Given the description of an element on the screen output the (x, y) to click on. 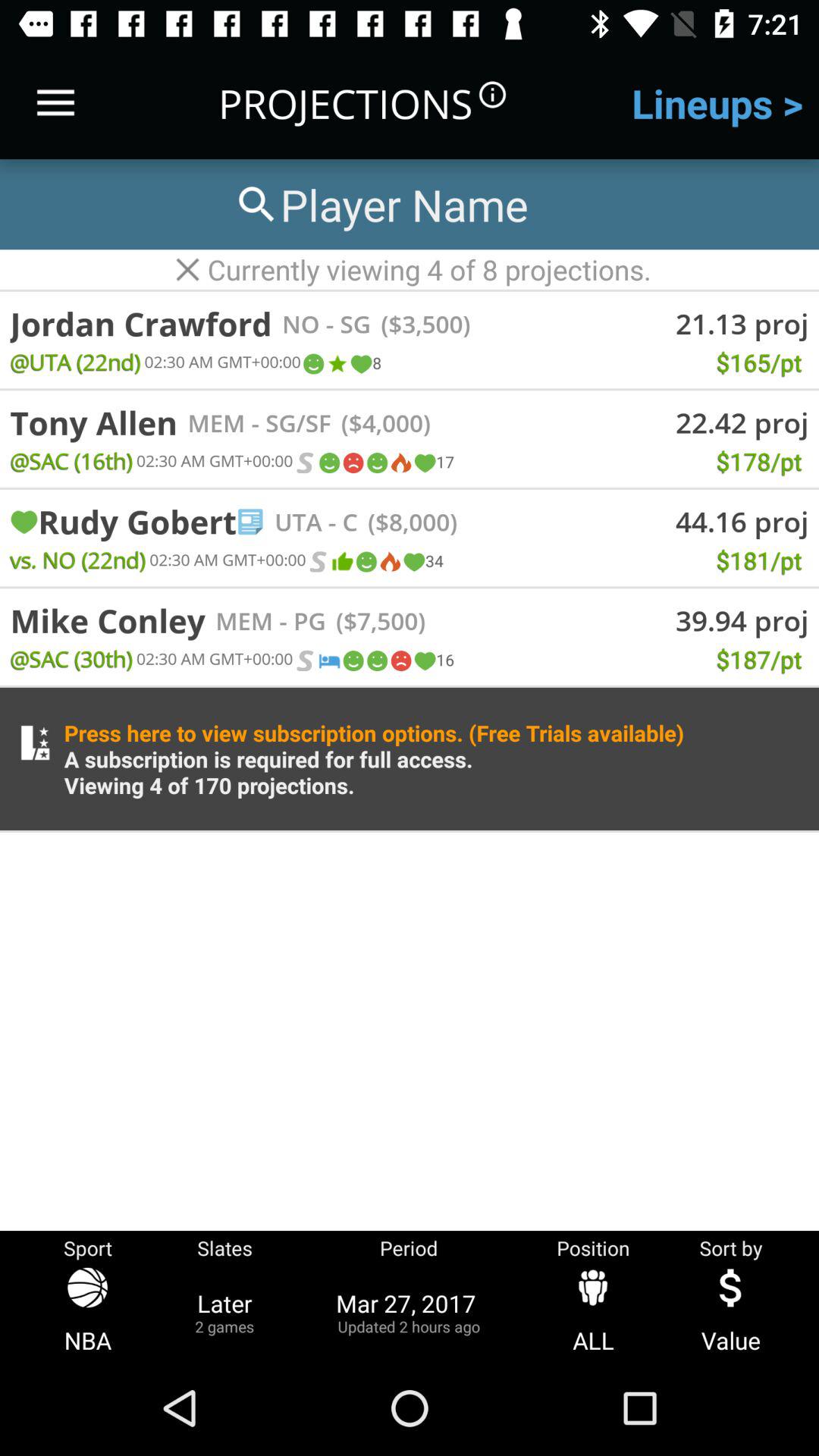
launch icon to the left of projections item (55, 103)
